Given the description of an element on the screen output the (x, y) to click on. 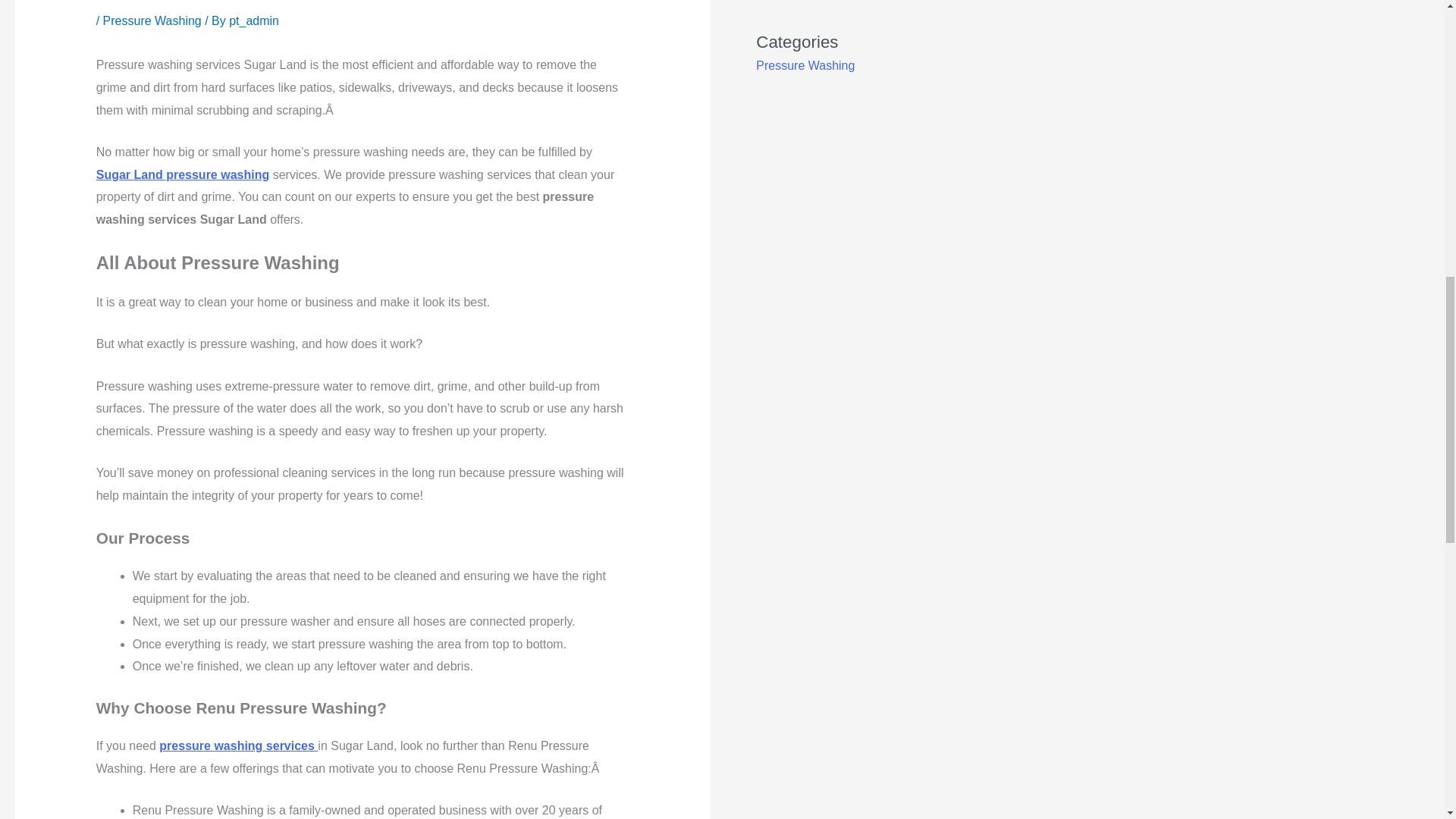
Pressure Washing (152, 20)
Sugar Land pressure washing (182, 174)
Pressure Washing (804, 65)
pressure washing services (237, 745)
